Given the description of an element on the screen output the (x, y) to click on. 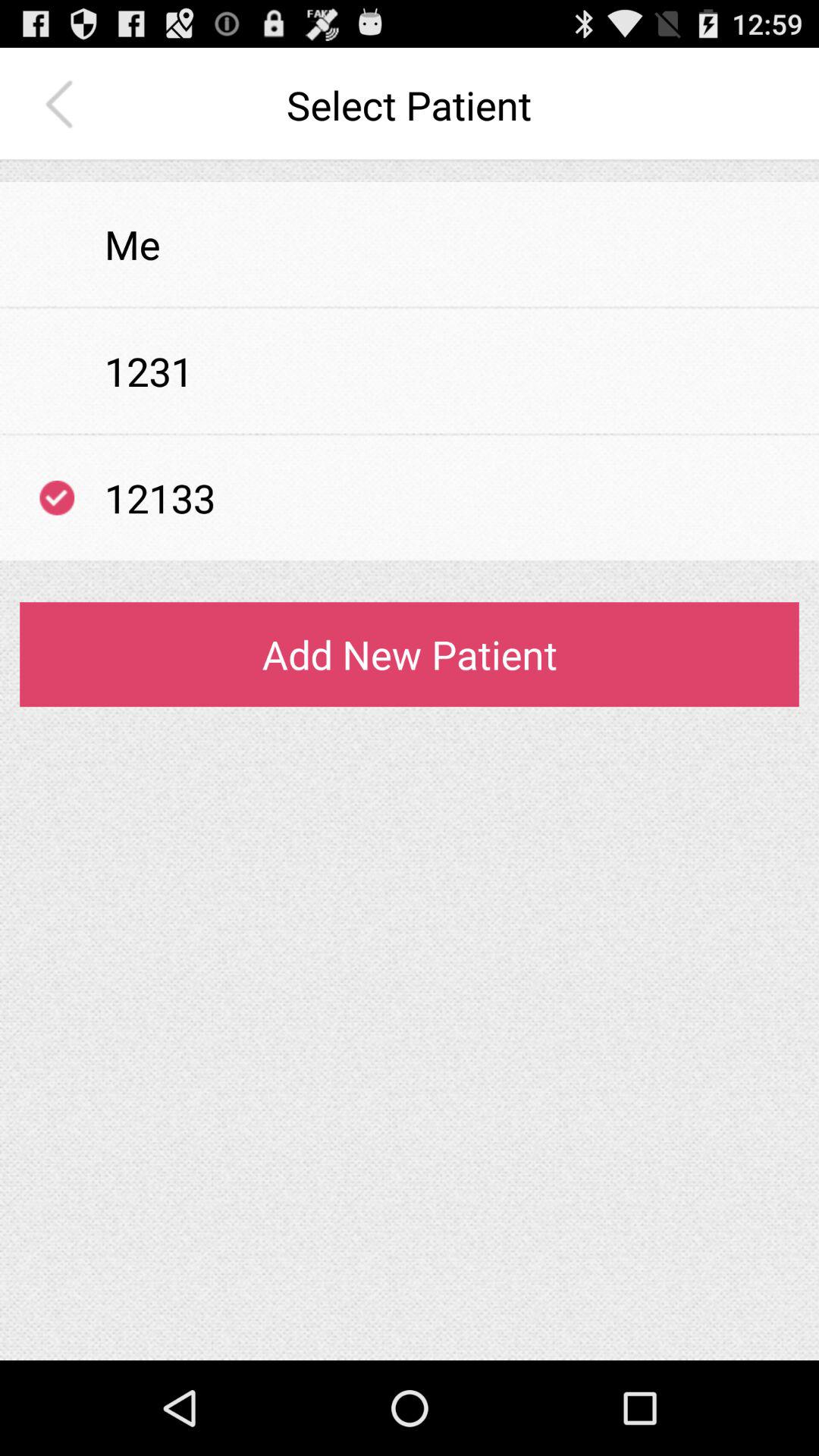
flip to the 12133 (159, 497)
